Given the description of an element on the screen output the (x, y) to click on. 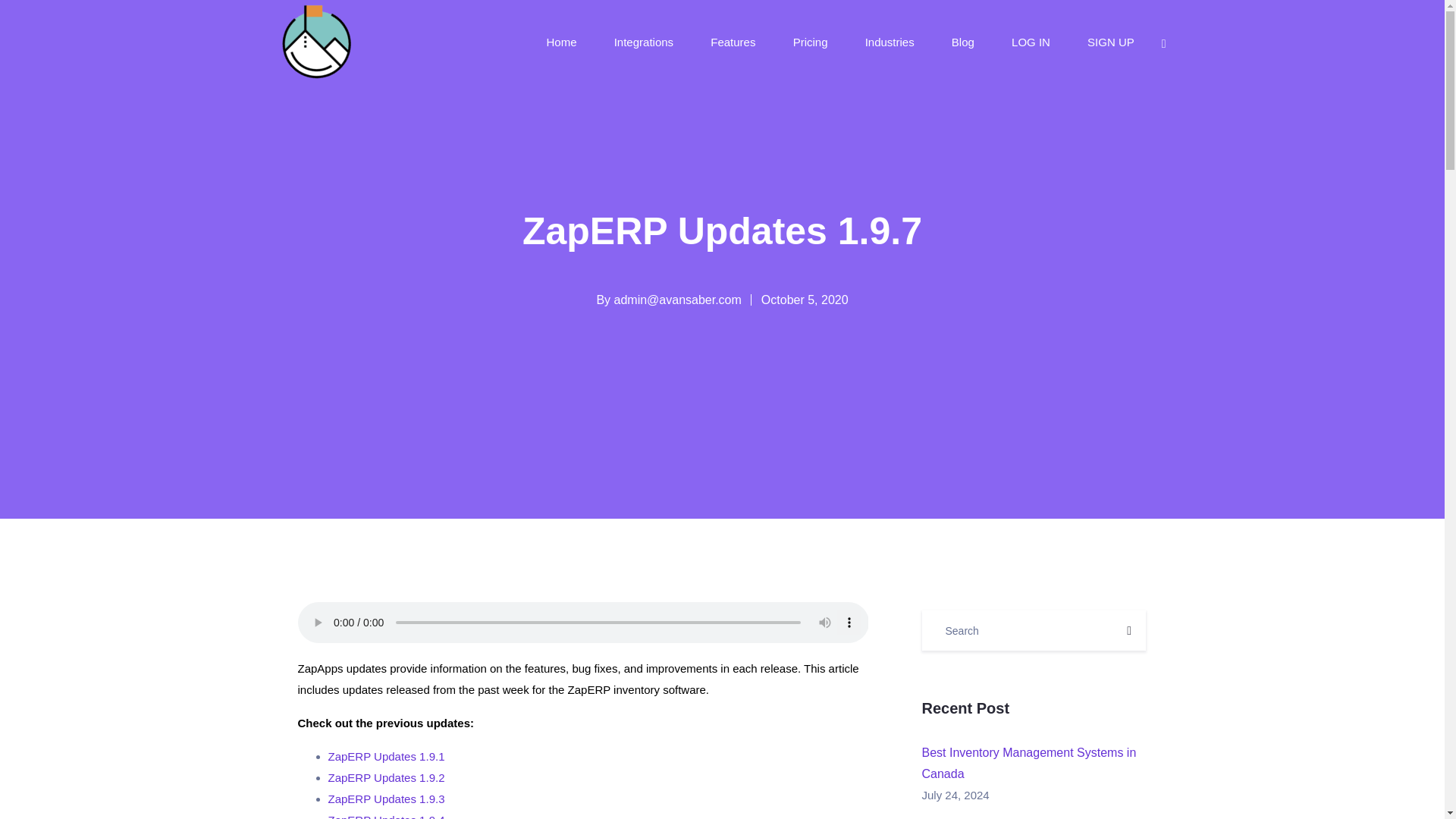
Home  (562, 41)
Integrations  (645, 41)
ZapERP Updates 1.9.2 (385, 777)
ZapERP Updates 1.9.3 (385, 798)
Pricing  (812, 41)
Best Inventory Management Systems in Canada (1028, 763)
Blog  (964, 41)
Features (734, 41)
LOG IN  (1031, 41)
Industries  (890, 41)
